Given the description of an element on the screen output the (x, y) to click on. 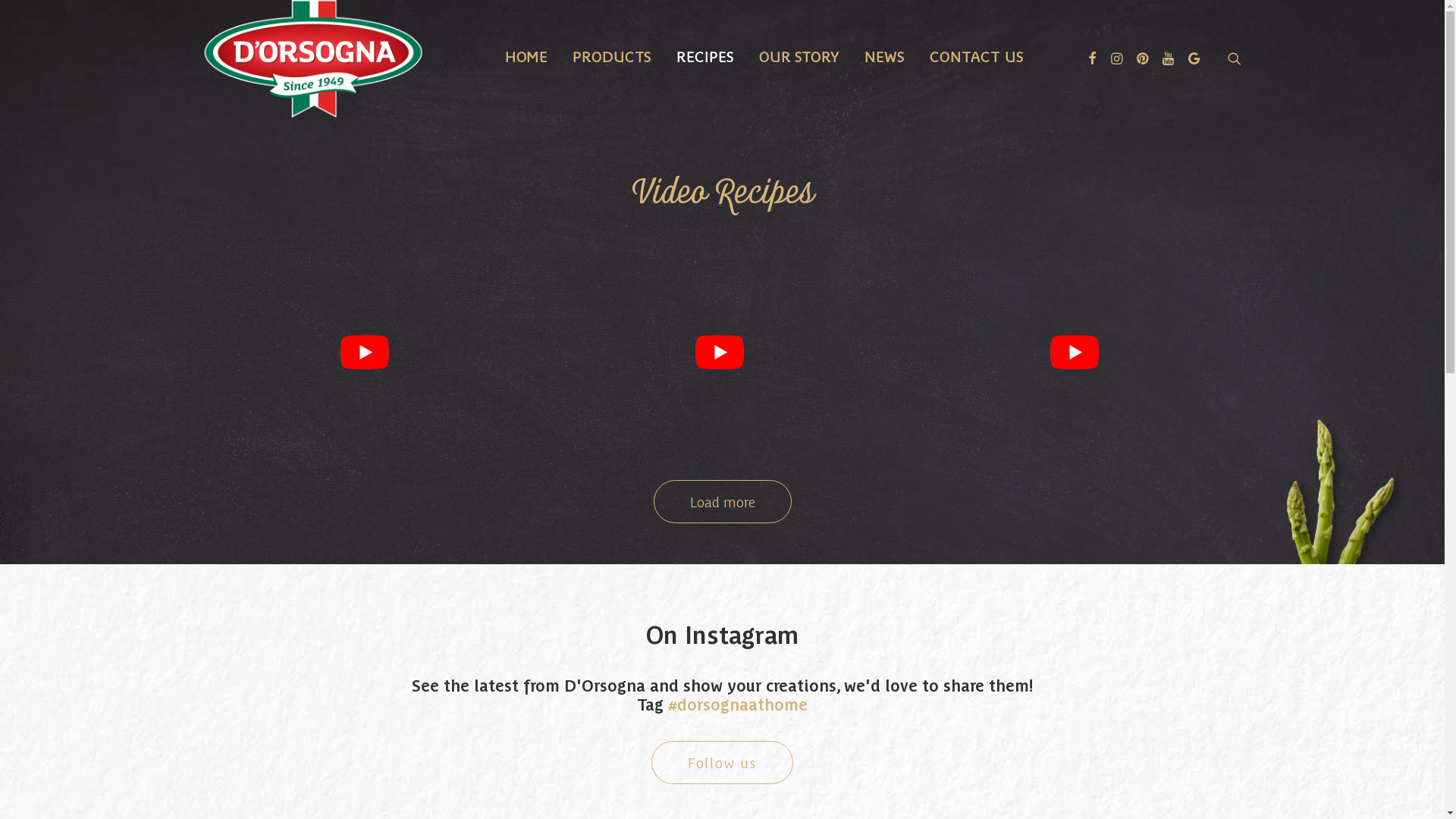
Load more Element type: text (722, 501)
NEWS Element type: text (884, 54)
CONTACT US Element type: text (976, 54)
OUR STORY Element type: text (799, 54)
PRODUCTS Element type: text (611, 54)
Follow us Element type: text (722, 762)
#dorsognaathome Element type: text (737, 703)
HOME Element type: text (526, 54)
RECIPES Element type: text (704, 54)
